Given the description of an element on the screen output the (x, y) to click on. 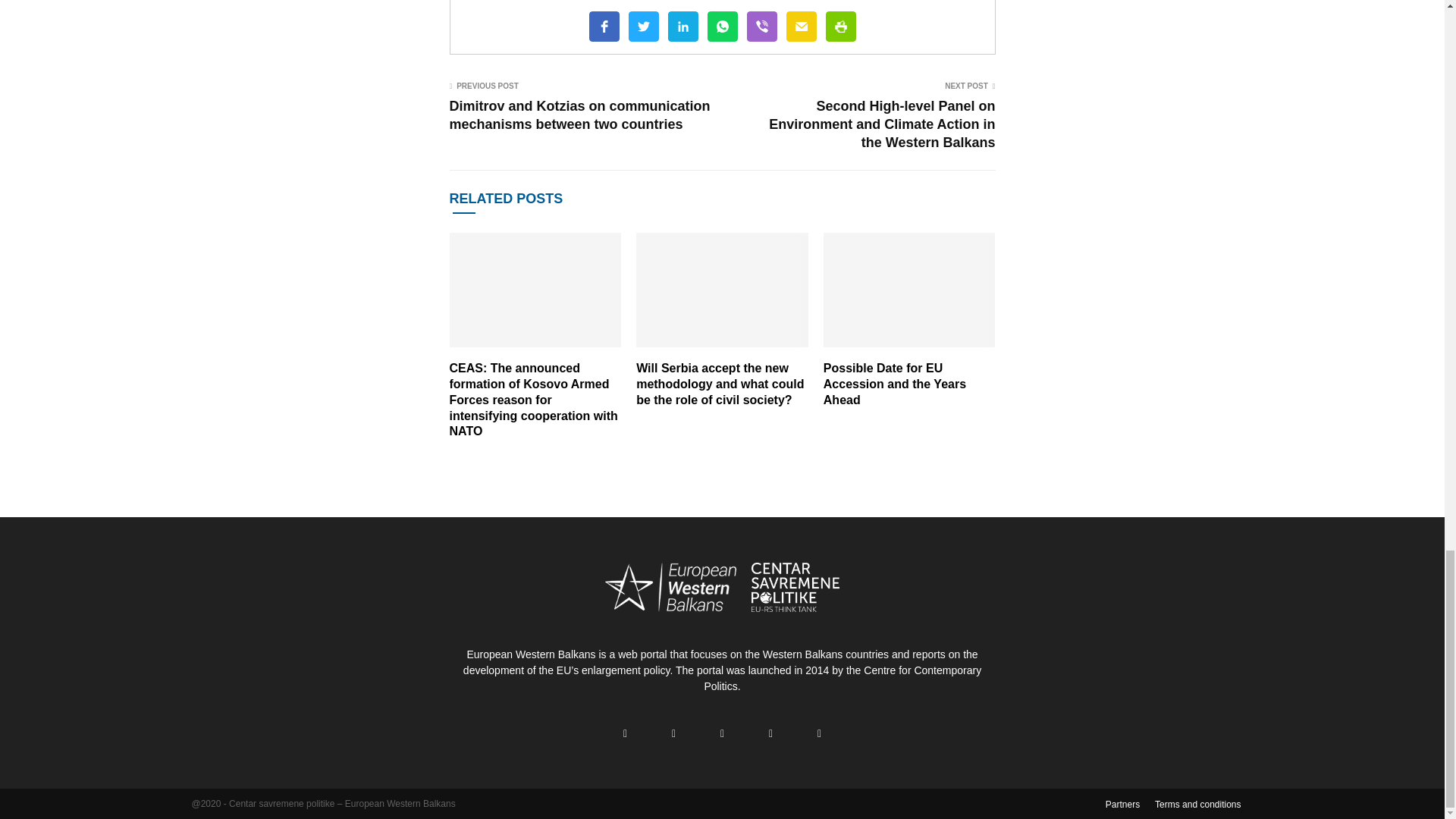
Viber (760, 26)
Twitter (642, 26)
Email (800, 26)
Facebook (603, 26)
Print (840, 26)
LinkedIn (681, 26)
WhatsApp (721, 26)
